Given the description of an element on the screen output the (x, y) to click on. 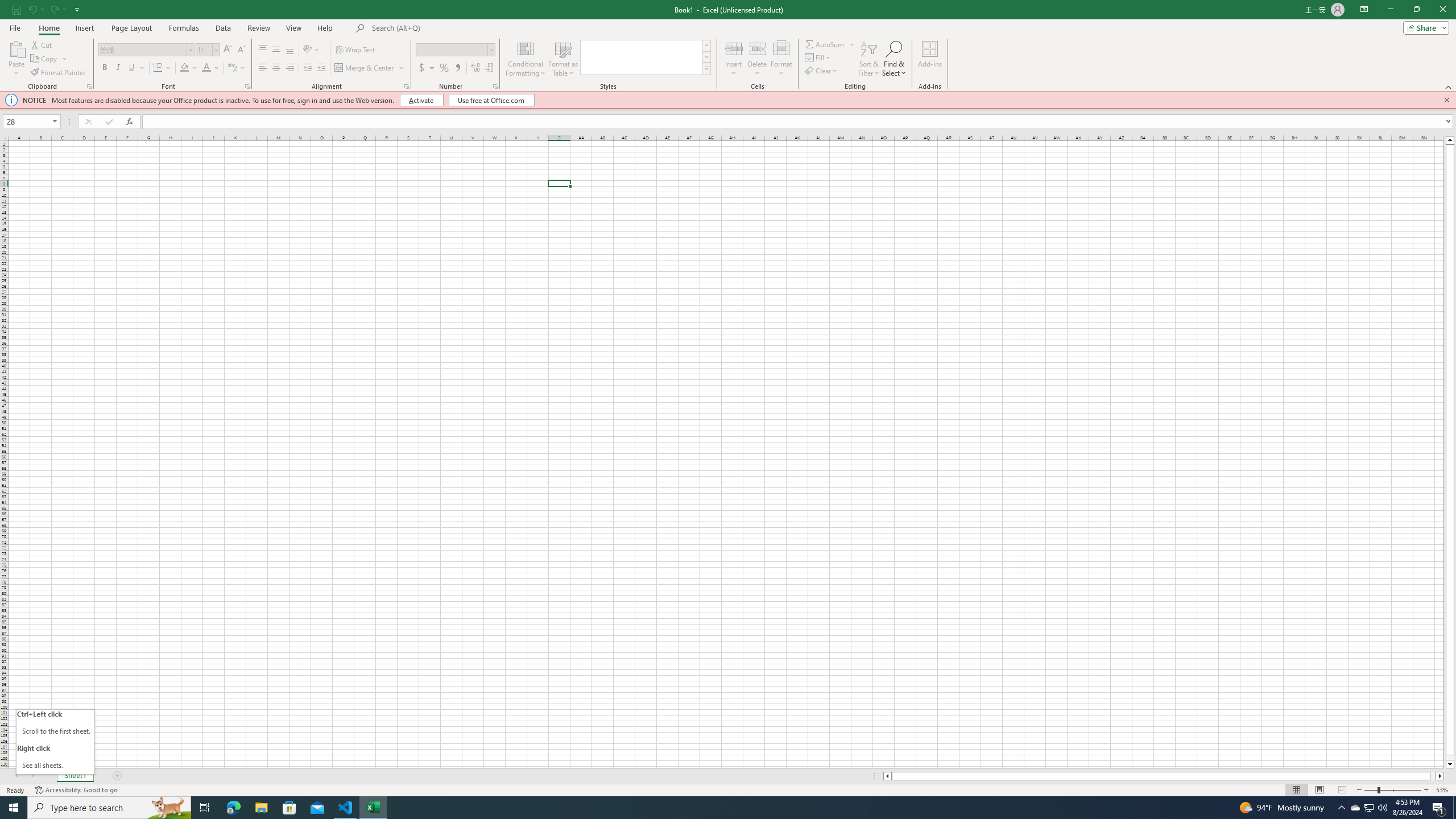
Add Sheet (117, 775)
Sort & Filter (868, 58)
Font Size (207, 49)
Merge & Center (369, 67)
Undo (35, 9)
Font (142, 49)
Class: NetUIImage (706, 68)
Comma Style (457, 67)
Font Color (206, 67)
Sum (825, 44)
Minimize (1390, 9)
Fill Color (183, 67)
Zoom (1392, 790)
Bold (104, 67)
